Given the description of an element on the screen output the (x, y) to click on. 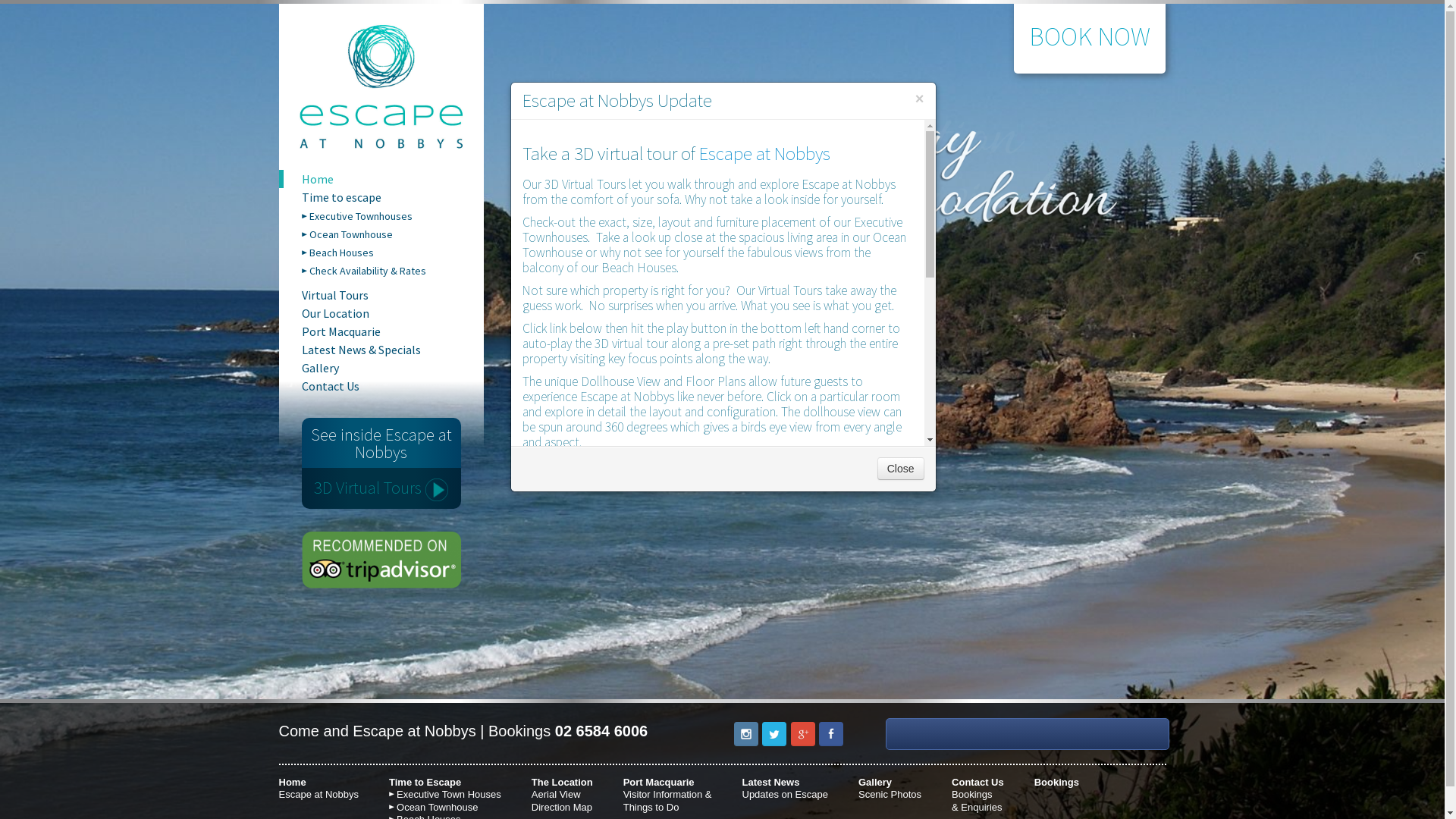
Time to Escape Element type: text (425, 781)
Scenic Photos Element type: text (889, 794)
Executive Townhouses Element type: text (396, 215)
Beach Houses Element type: text (396, 252)
Ocean Townhouse Element type: text (436, 806)
Visitor Information & Element type: text (667, 794)
Escape at Nobbys Virtual Tour Element type: hover (522, 651)
Escape at Nobbys Element type: text (319, 794)
See inside Escape at Nobbys Element type: text (380, 442)
Port Macquarie Element type: text (658, 781)
Click here Element type: text (557, 471)
Time to escape Element type: text (392, 196)
Ocean Townhouse Element type: text (396, 233)
Contact Us Element type: text (392, 385)
Gallery Element type: text (392, 367)
Latest News Element type: text (770, 781)
Home Element type: text (392, 178)
The Location Element type: text (562, 781)
02 6584 6006 Element type: text (601, 730)
Check Availability & Rates Element type: text (396, 270)
& Enquiries Element type: text (976, 806)
Contact Us Element type: text (977, 781)
Executive Town Houses Element type: text (448, 794)
Gallery Element type: text (874, 781)
Updates on Escape Element type: text (784, 794)
Latest News & Specials Element type: text (392, 349)
Port Macquarie Element type: text (392, 330)
Bookings Element type: text (1056, 781)
Home Element type: text (292, 781)
BOOK NOW Element type: text (1089, 36)
Virtual Tours Element type: text (392, 294)
Bookings Element type: text (971, 794)
Direction Map Element type: text (561, 806)
Close Element type: text (900, 468)
Aerial View Element type: text (555, 794)
Our Location Element type: text (392, 312)
petra.broomby@eldersrealestate.com.au Element type: text (657, 629)
Escape at Nobbys  Element type: text (766, 153)
  Element type: text (522, 651)
3D Virtual Tours Element type: text (380, 487)
Things to Do Element type: text (651, 806)
